Given the description of an element on the screen output the (x, y) to click on. 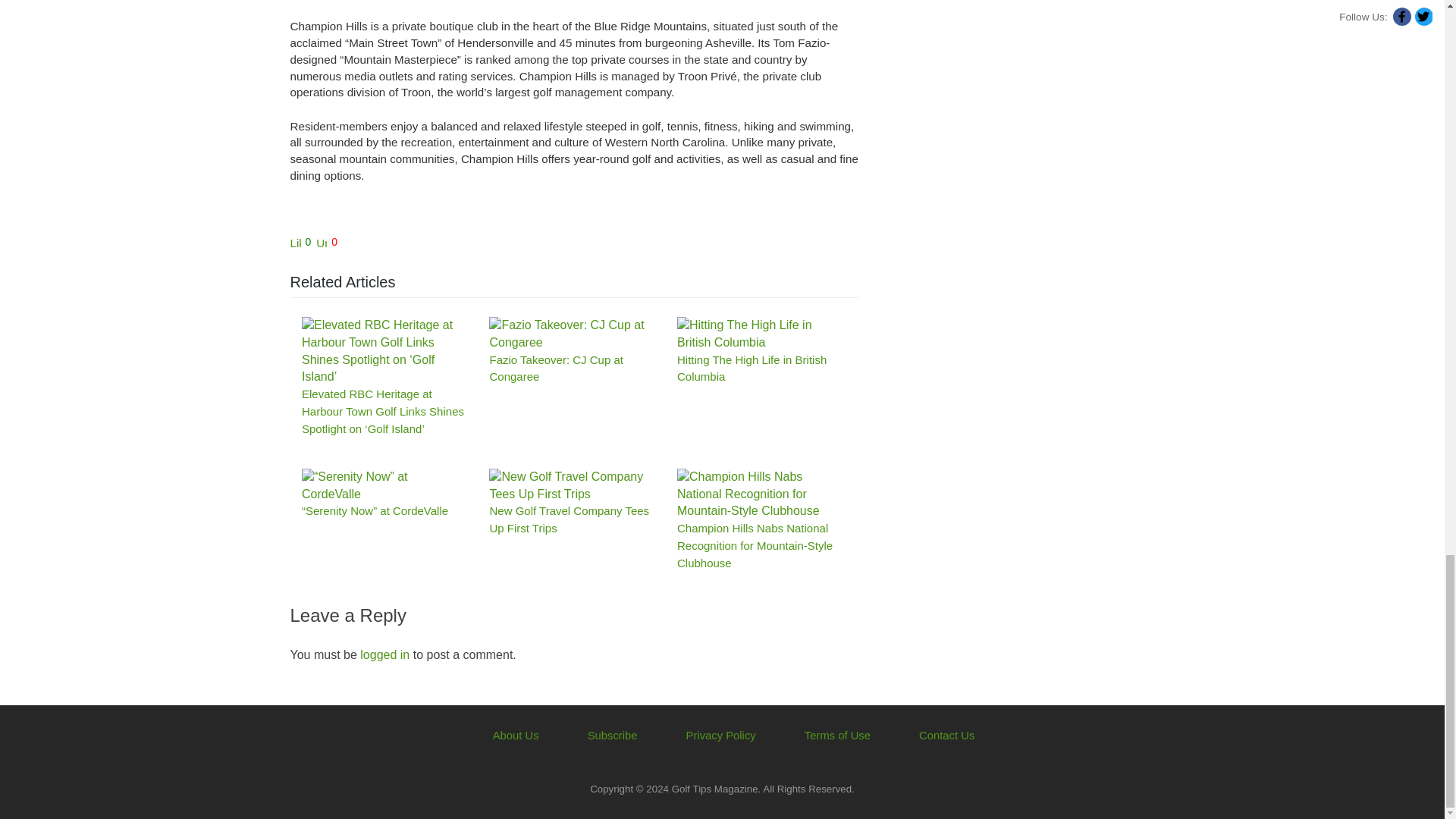
New Golf Travel Company Tees Up First Trips (571, 485)
Hitting The High Life in British Columbia (759, 334)
Fazio Takeover: CJ Cup at Congaree (571, 334)
